Given the description of an element on the screen output the (x, y) to click on. 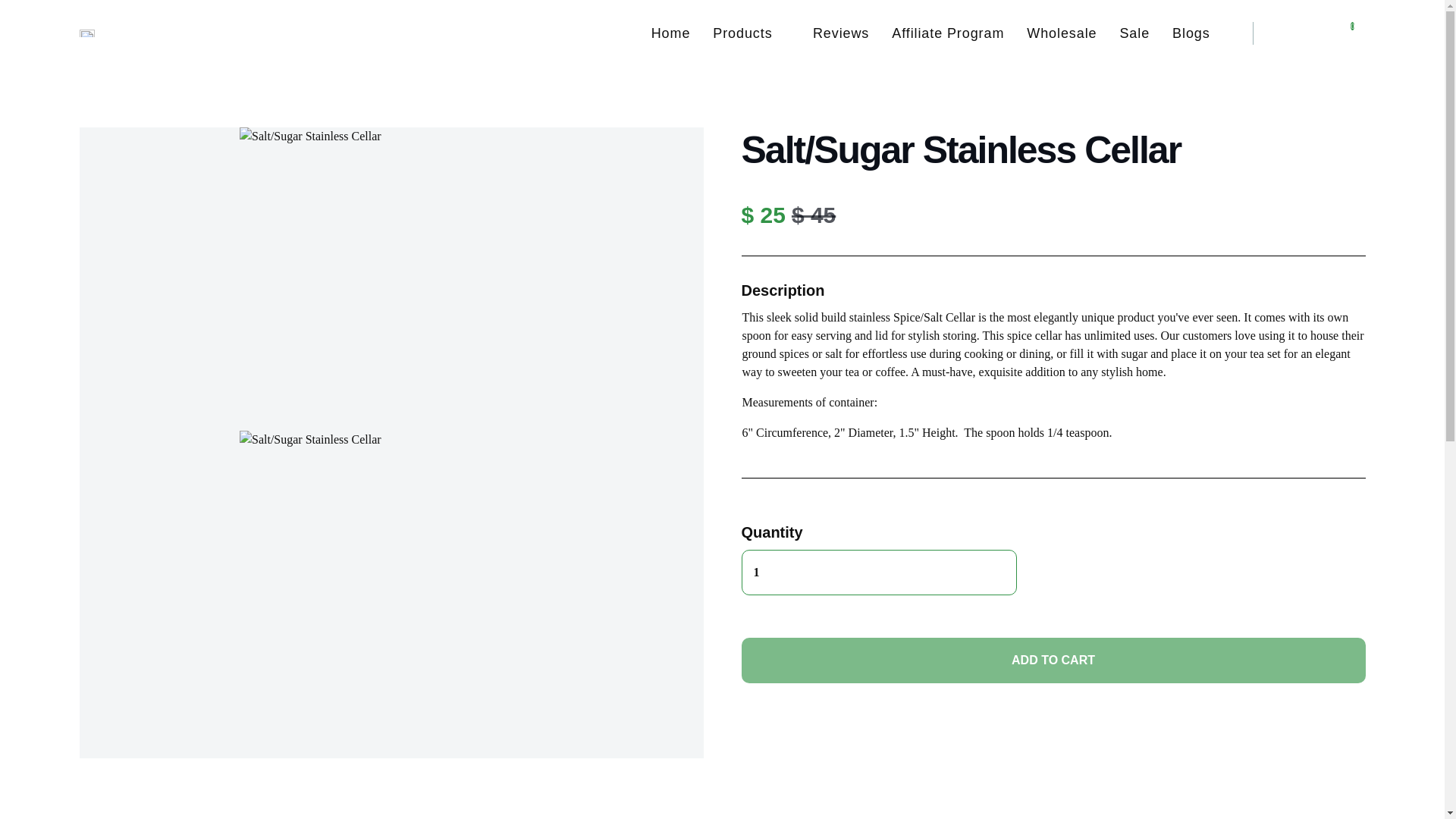
Reviews (840, 33)
Home (670, 33)
Affiliate Program (947, 33)
ADD TO CART (1053, 660)
Products (751, 33)
Wholesale (1061, 33)
LOG IN (1327, 25)
SEARCH (1299, 33)
Sale (1134, 33)
Blogs (1190, 33)
